Given the description of an element on the screen output the (x, y) to click on. 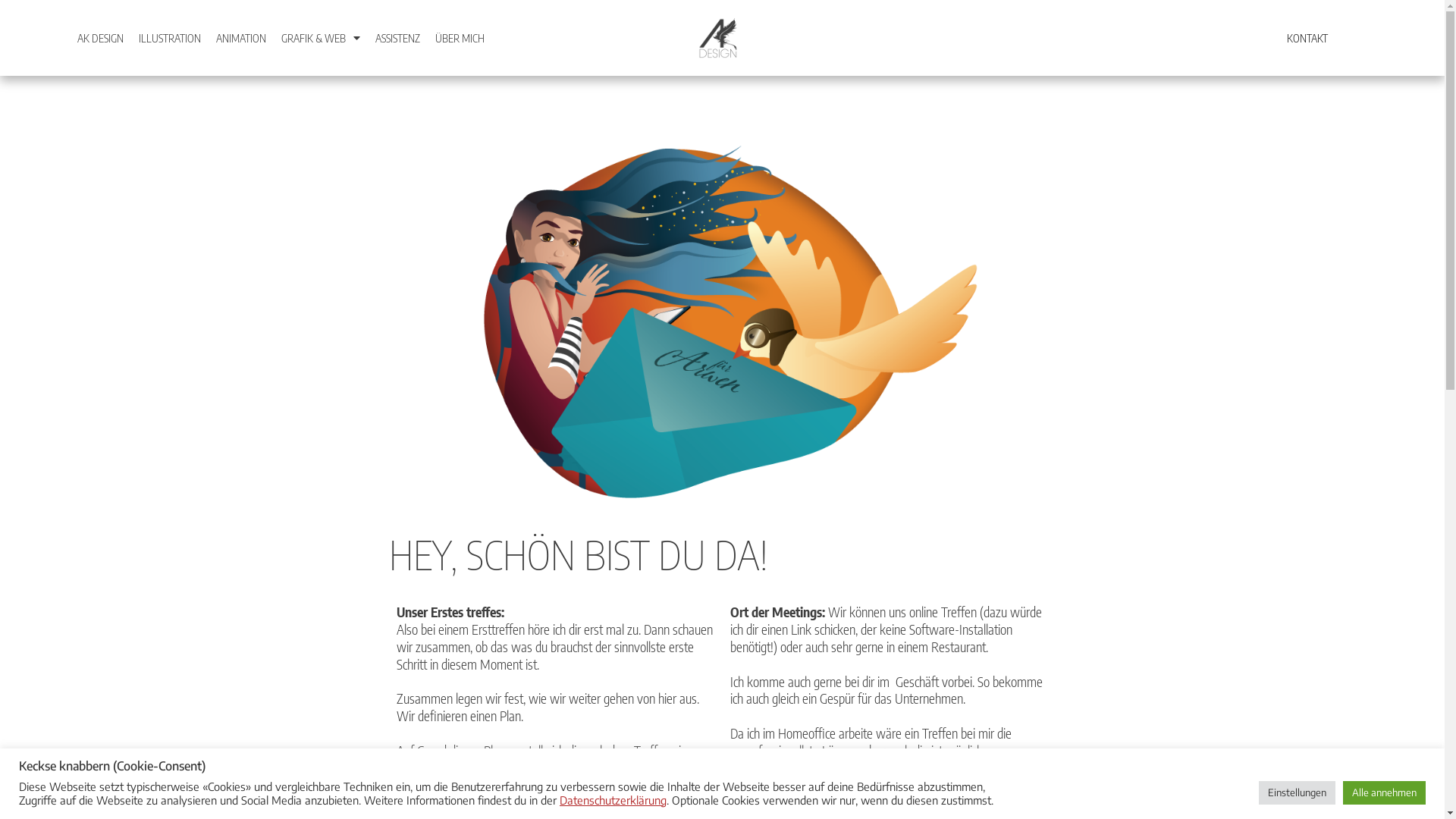
ASSISTENZ Element type: text (397, 38)
Alle annehmen Element type: text (1384, 792)
ILLUSTRATION Element type: text (169, 38)
ANIMATION Element type: text (240, 38)
GRAFIK & WEB Element type: text (320, 38)
KONTAKT Element type: text (1307, 38)
AK DESIGN Element type: text (100, 38)
Einstellungen Element type: text (1296, 792)
